Given the description of an element on the screen output the (x, y) to click on. 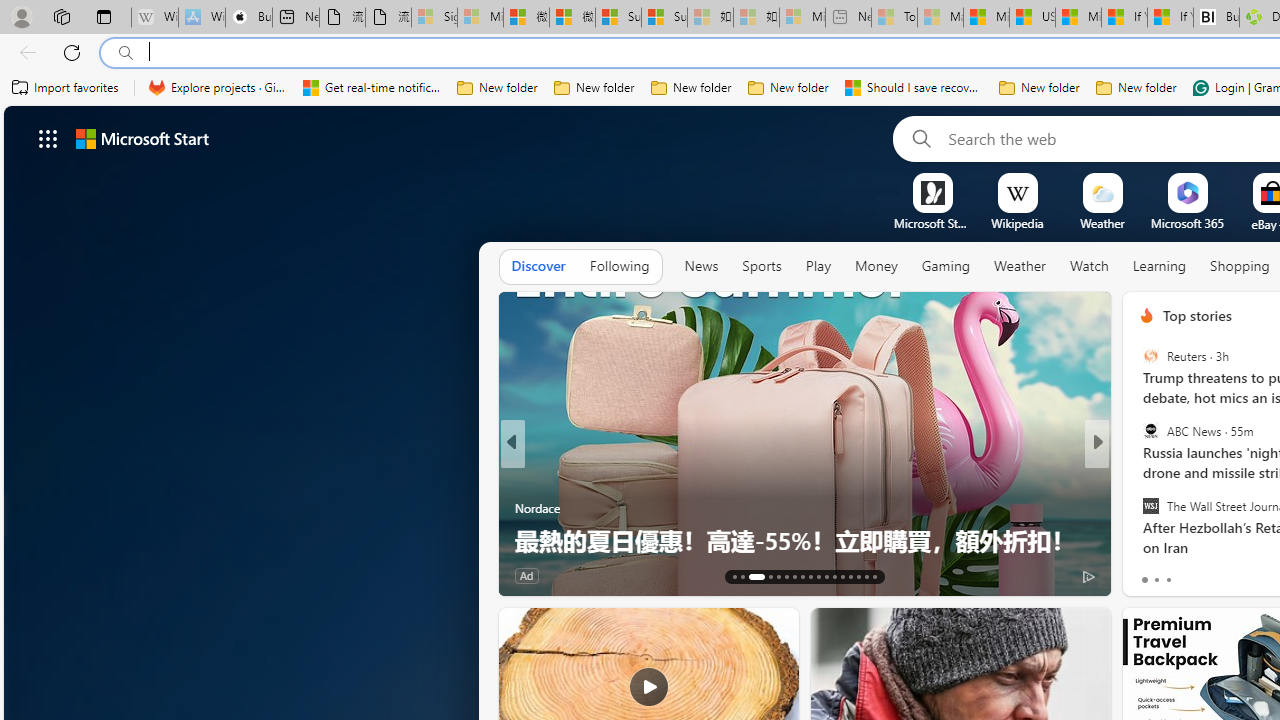
1 Like (1145, 574)
View comments 1k Comment (1234, 575)
Watch (1089, 267)
Microsoft start (142, 138)
18 Like (1149, 574)
AutomationID: tab-20 (801, 576)
A Conscious Rethink (1138, 475)
AutomationID: tab-21 (810, 576)
View comments 2 Comment (1234, 574)
